Given the description of an element on the screen output the (x, y) to click on. 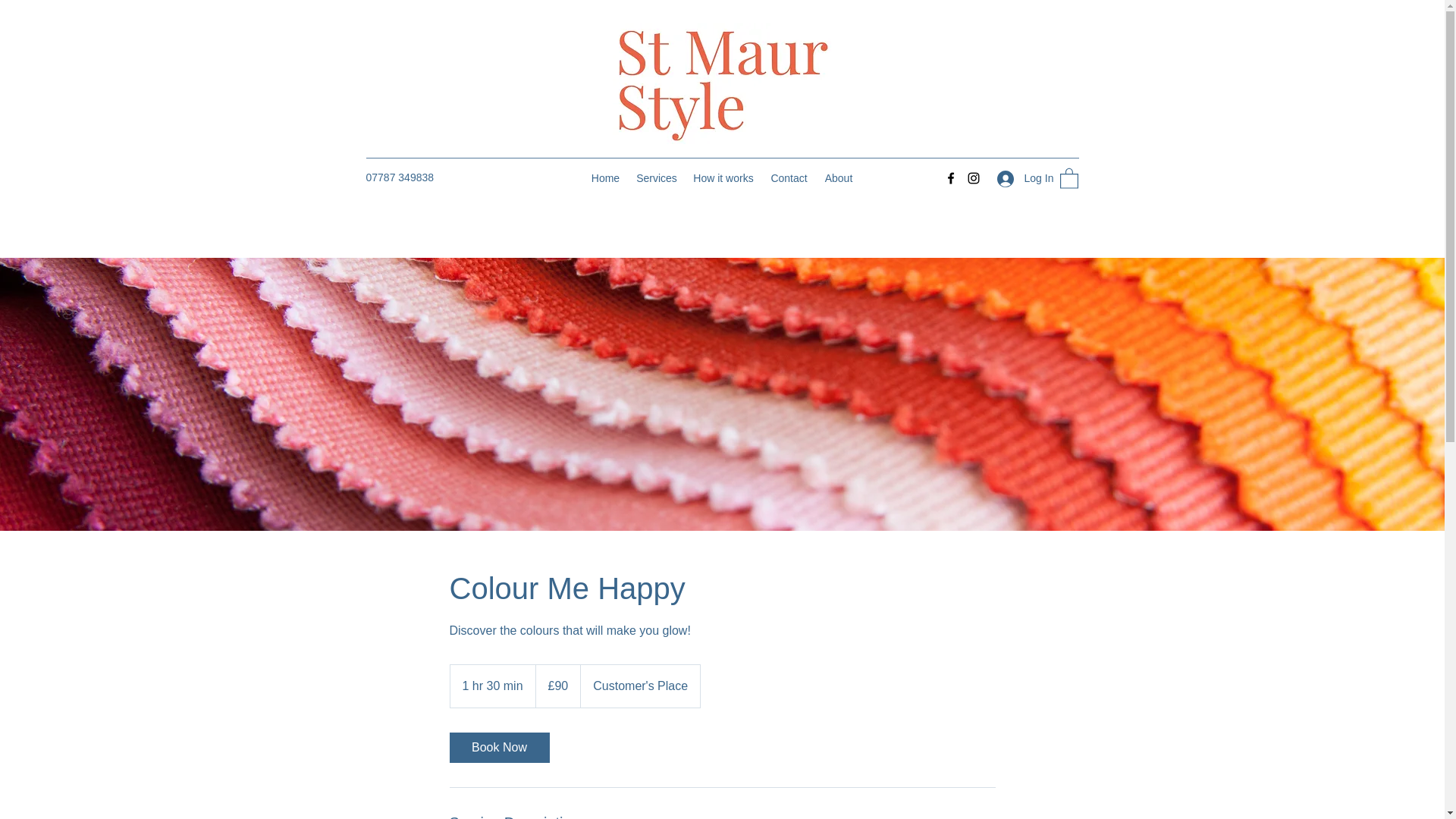
Services (656, 178)
Log In (1019, 178)
Contact (788, 178)
Book Now (498, 747)
How it works (723, 178)
About (838, 178)
Home (605, 178)
